Given the description of an element on the screen output the (x, y) to click on. 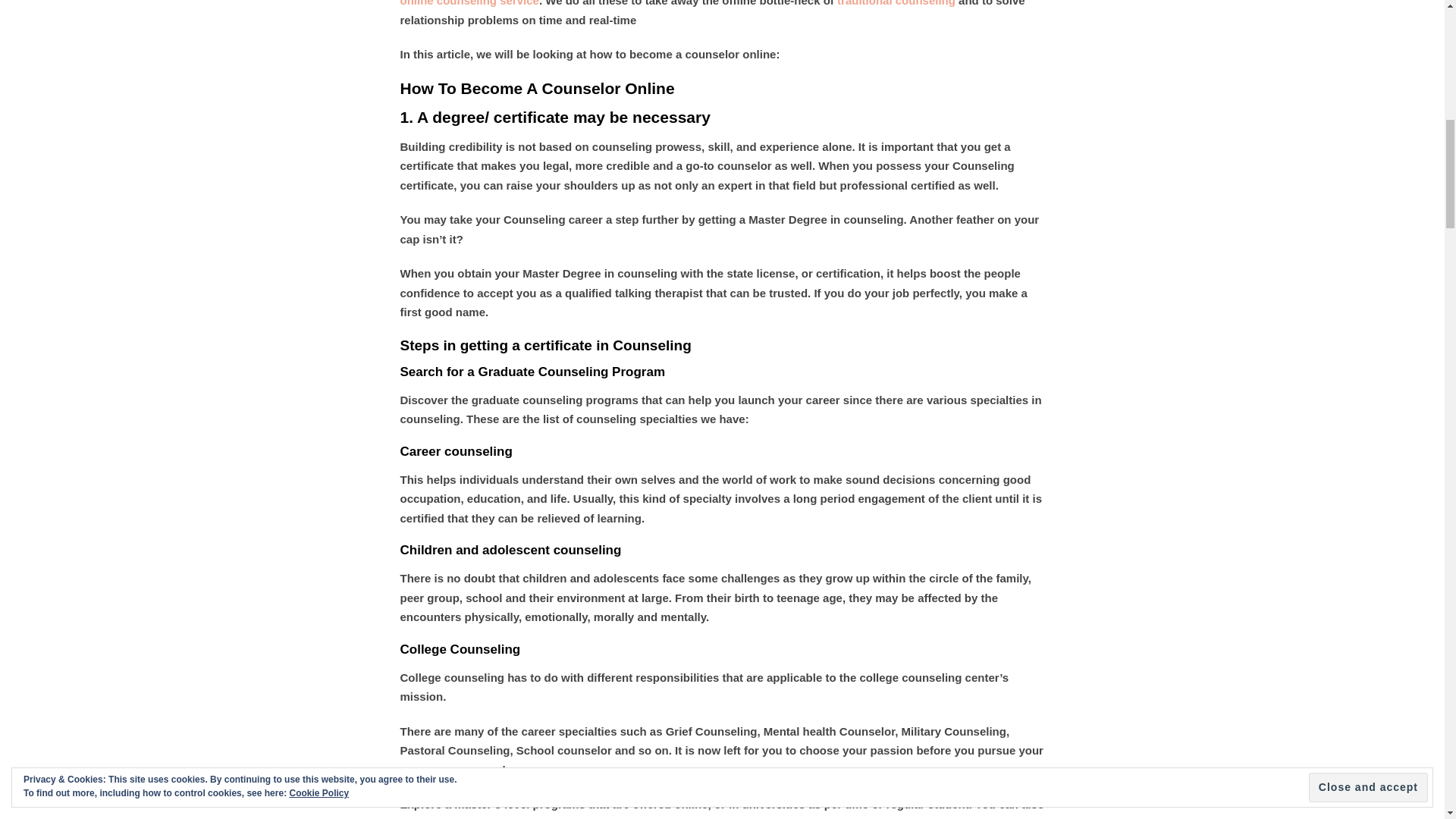
traditional counseling (896, 3)
online counseling service (469, 3)
